Given the description of an element on the screen output the (x, y) to click on. 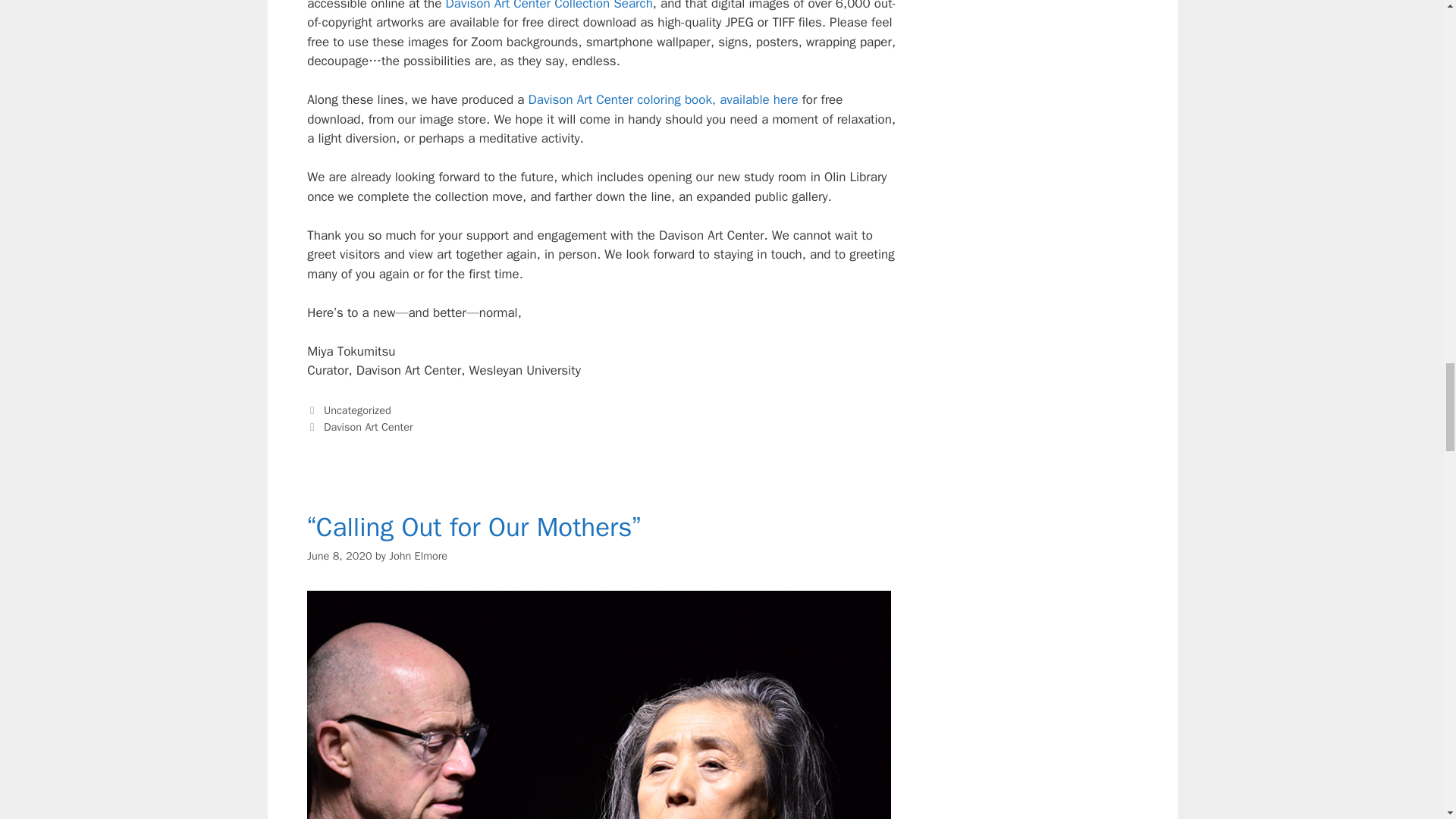
View all posts by John Elmore (417, 555)
